Given the description of an element on the screen output the (x, y) to click on. 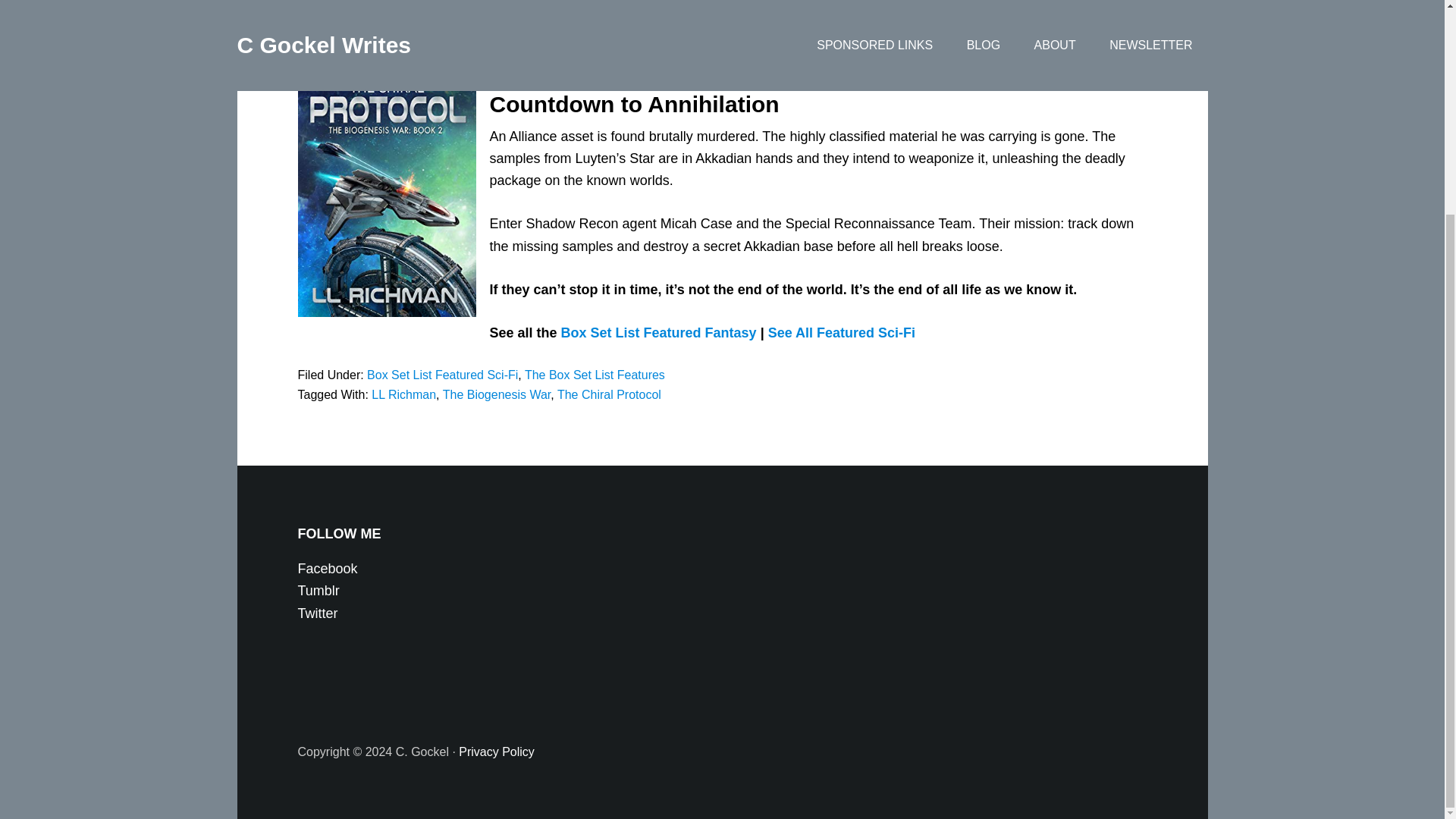
LL Richman (403, 394)
Box Set List Featured Fantasy (658, 332)
Facebook (326, 568)
Australia (973, 57)
The Chiral Protocol (609, 394)
The Biogenesis War (496, 394)
Canada (847, 57)
Amazon US (663, 57)
Germany (908, 57)
The Box Set List Features (594, 374)
Tumblr (318, 590)
Box Set List Featured Sci-Fi (442, 374)
See All Featured Sci-Fi (841, 332)
United Kingdom (762, 57)
Twitter (317, 613)
